Given the description of an element on the screen output the (x, y) to click on. 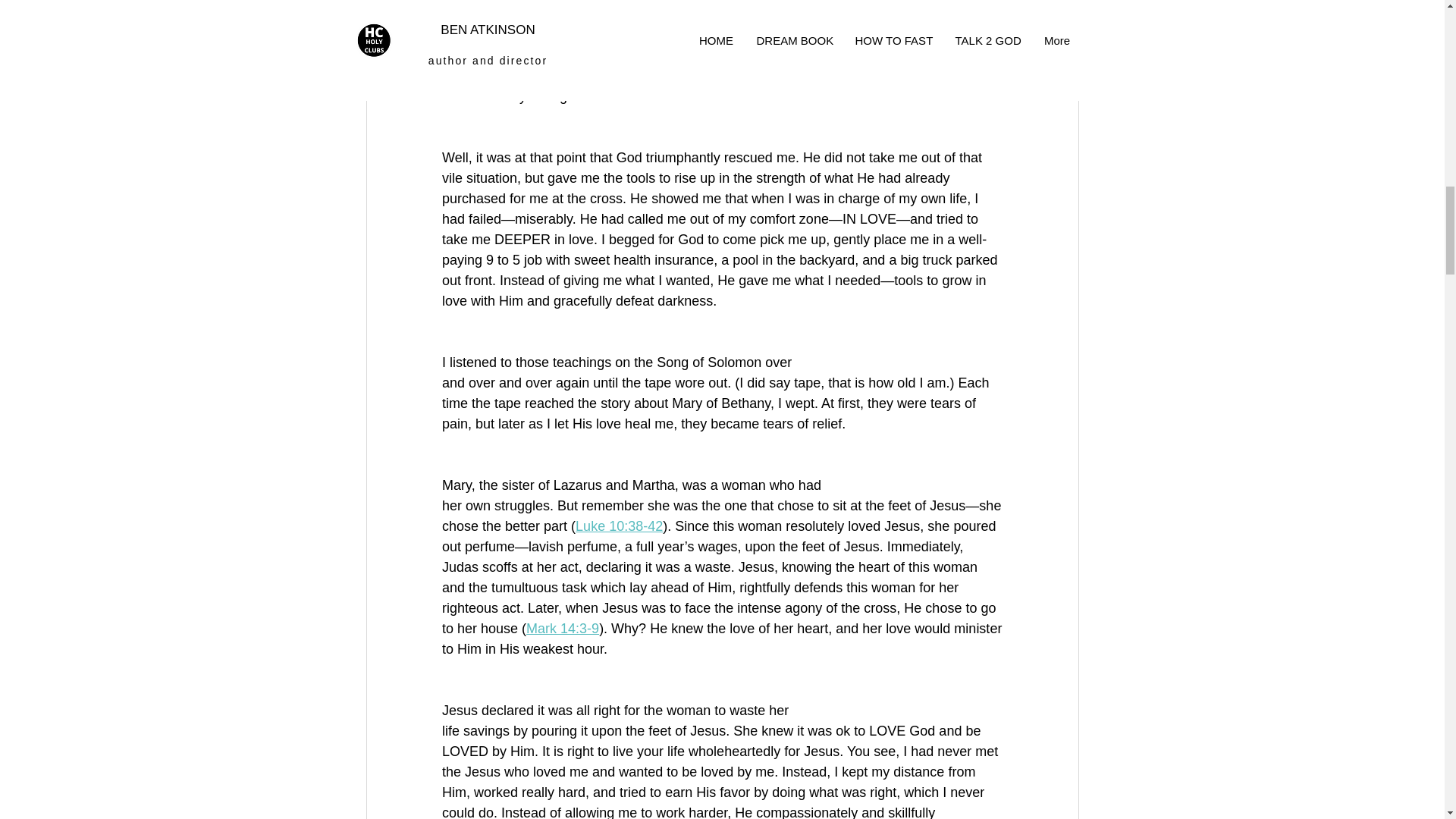
Luke 10:38-42 (618, 525)
Mark 14:3-9 (561, 628)
